Given the description of an element on the screen output the (x, y) to click on. 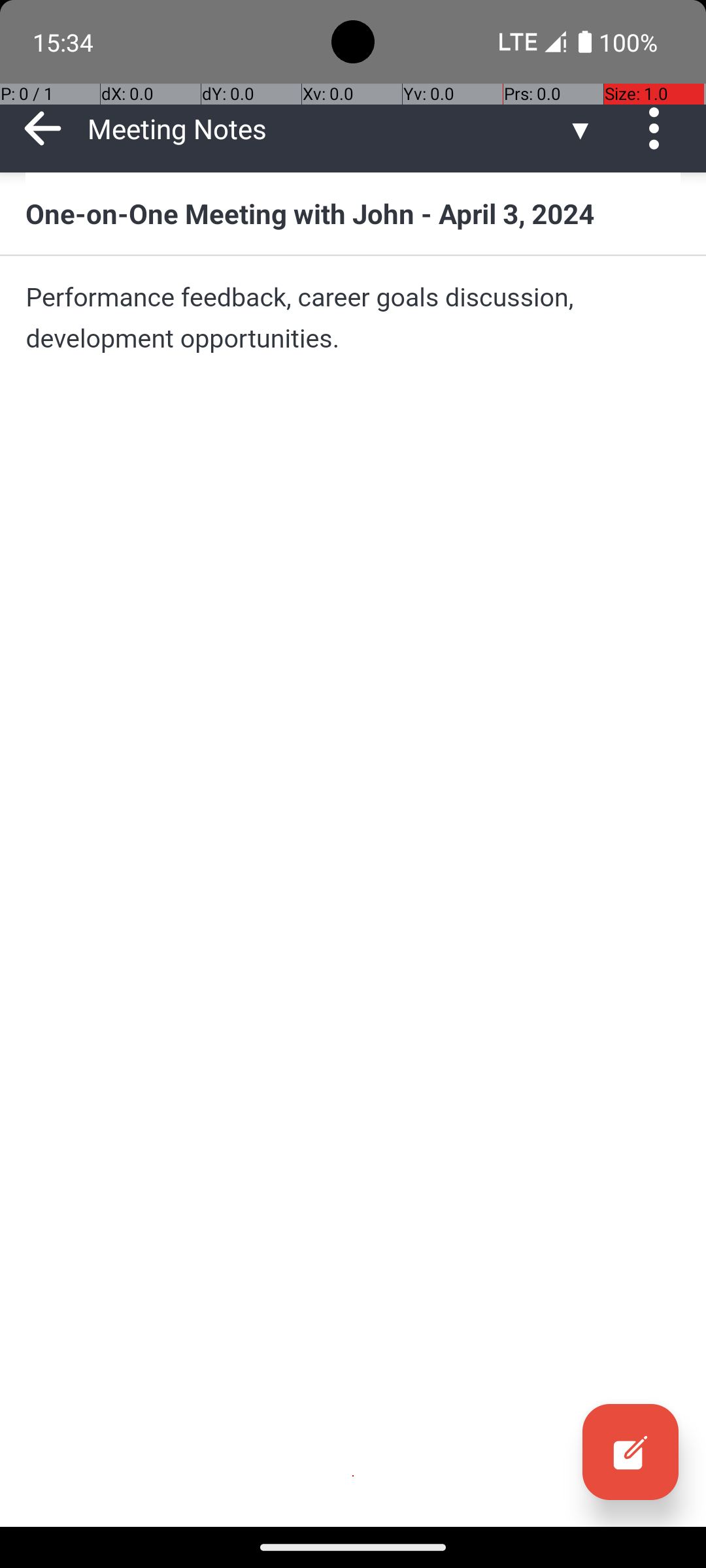
One-on-One Meeting with John - April 3, 2024 Element type: android.widget.EditText (352, 213)
Performance feedback, career goals discussion, development opportunities. Element type: android.widget.TextView (352, 317)
